Given the description of an element on the screen output the (x, y) to click on. 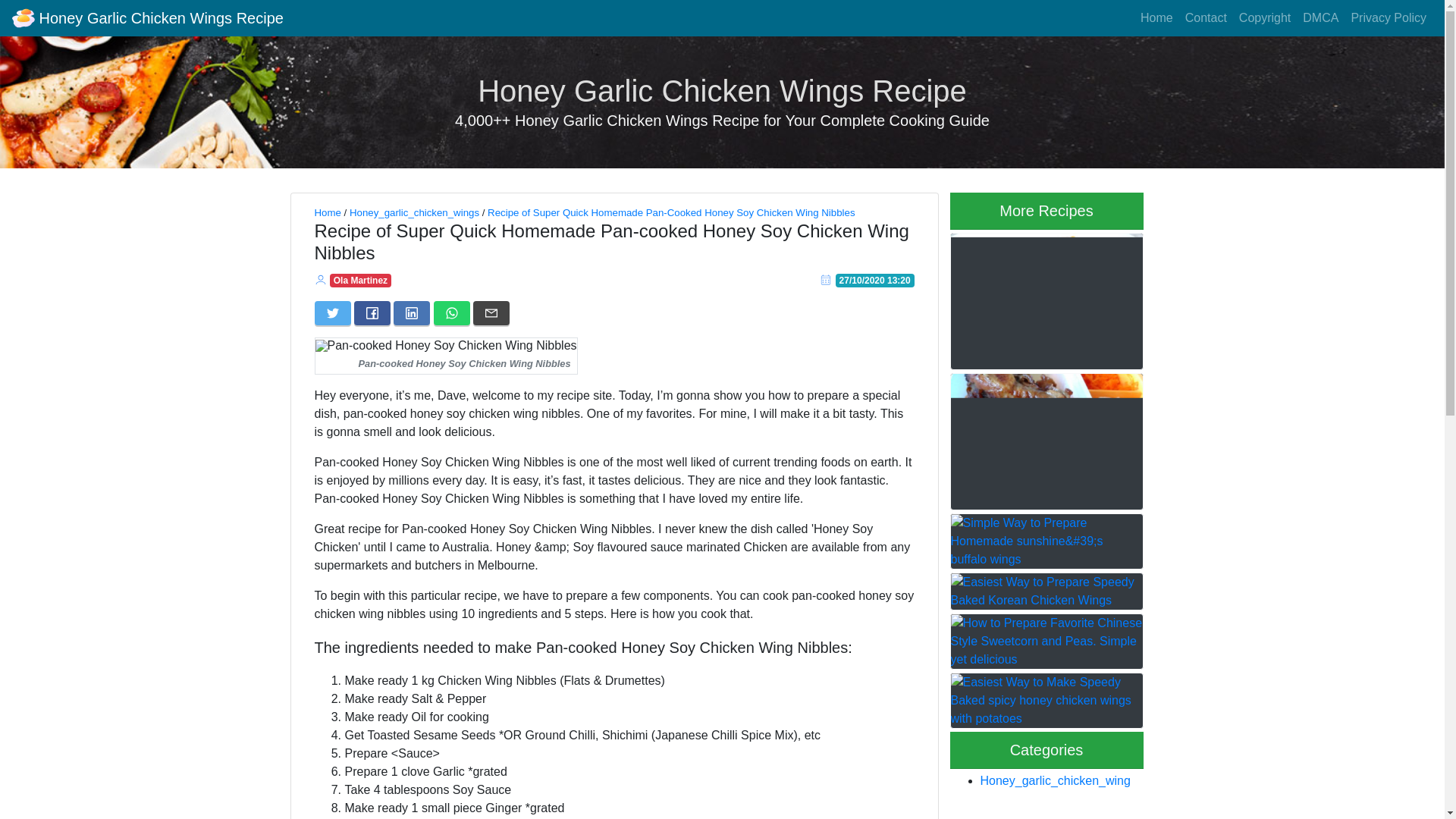
Copyright (1265, 18)
Contact (1206, 18)
Home (1156, 18)
Home (327, 212)
Honey Garlic Chicken Wings Recipe (147, 18)
Privacy Policy (1387, 18)
DMCA (1320, 18)
Ola Martinez (360, 280)
Honey Garlic Chicken Wings Recipe (721, 90)
